Given the description of an element on the screen output the (x, y) to click on. 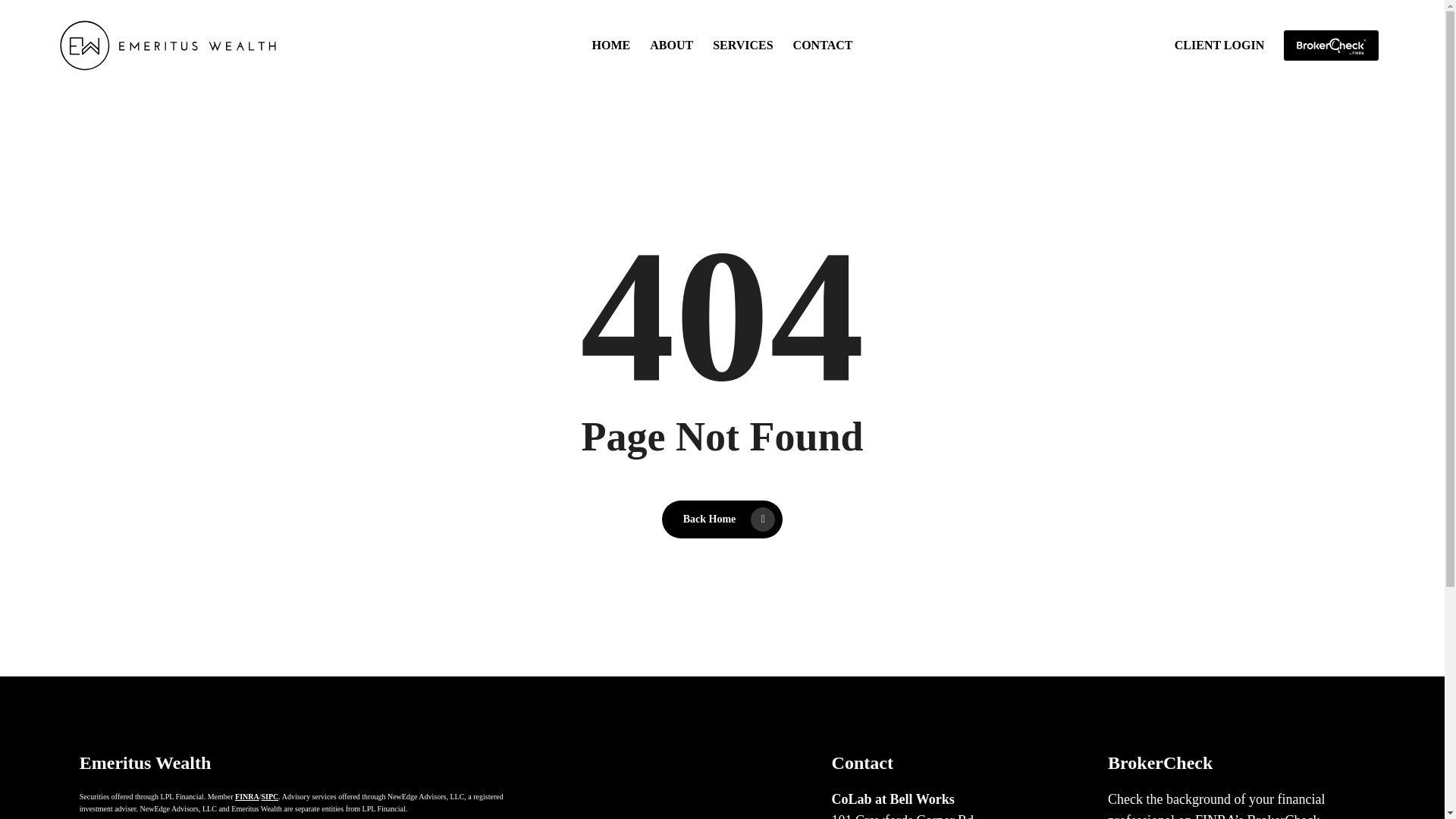
CLIENT LOGIN (1218, 45)
BrokerCheck. (1285, 816)
FINRA (903, 816)
SERVICES (246, 796)
CONTACT (743, 45)
SIPC (823, 45)
HOME (269, 796)
ABOUT (611, 45)
Back Home (671, 45)
